Given the description of an element on the screen output the (x, y) to click on. 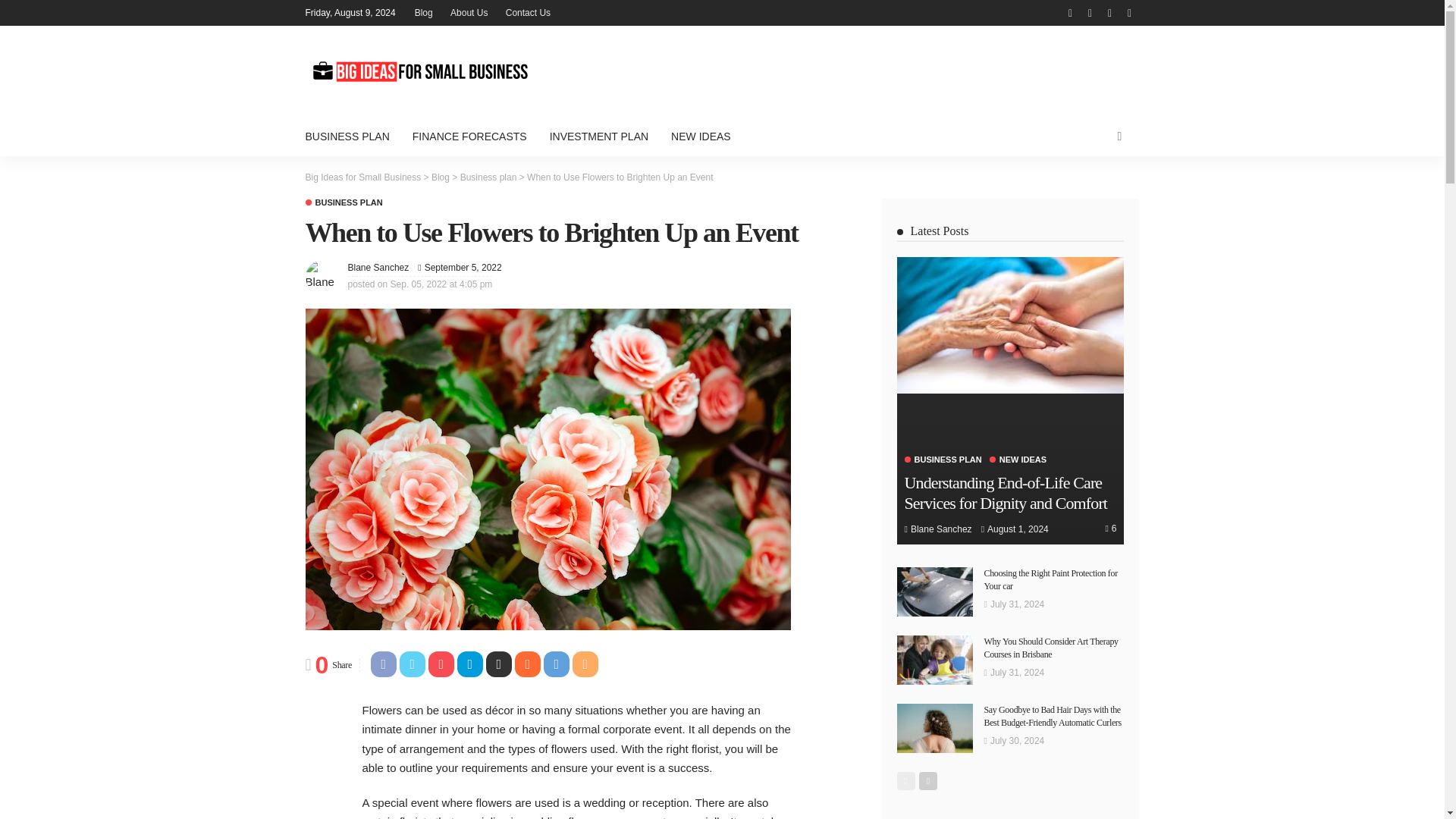
BUSINESS PLAN (352, 136)
Blog (424, 12)
Business plan (342, 203)
Big Ideas for Small Business (362, 176)
FINANCE FORECASTS (469, 136)
search (1118, 136)
Contact Us (527, 12)
Go to the Business plan Category archives. (488, 176)
About Us (468, 12)
NEW IDEAS (700, 136)
